Given the description of an element on the screen output the (x, y) to click on. 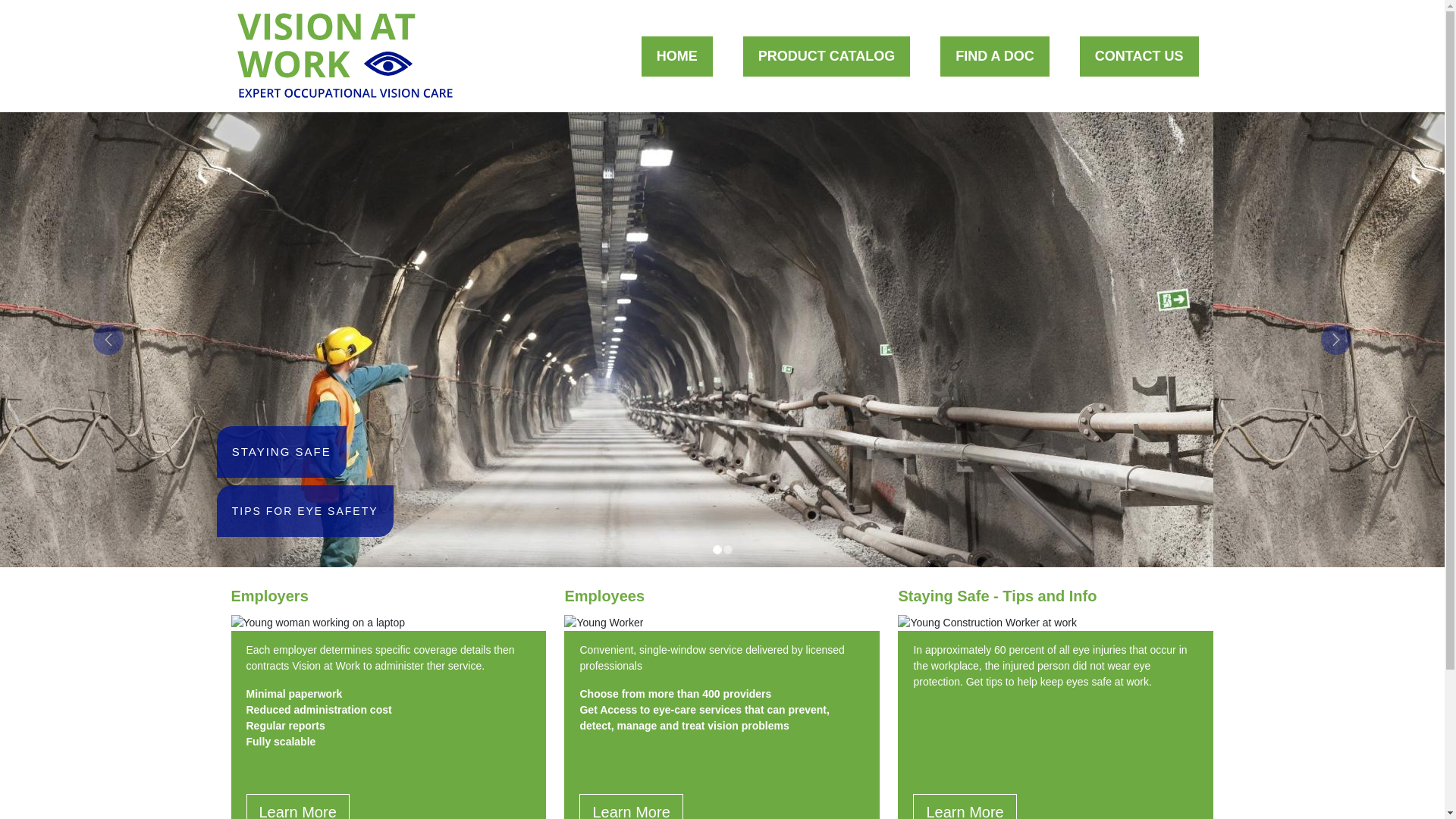
Learn More (964, 811)
TIPS FOR EYE SAFETY (304, 510)
Learn More (630, 811)
Employers (268, 596)
CONTACT US (1139, 56)
HOME (677, 56)
FIND A DOC (994, 56)
Home (344, 55)
PRODUCT CATALOG (826, 56)
Employees (604, 596)
